Given the description of an element on the screen output the (x, y) to click on. 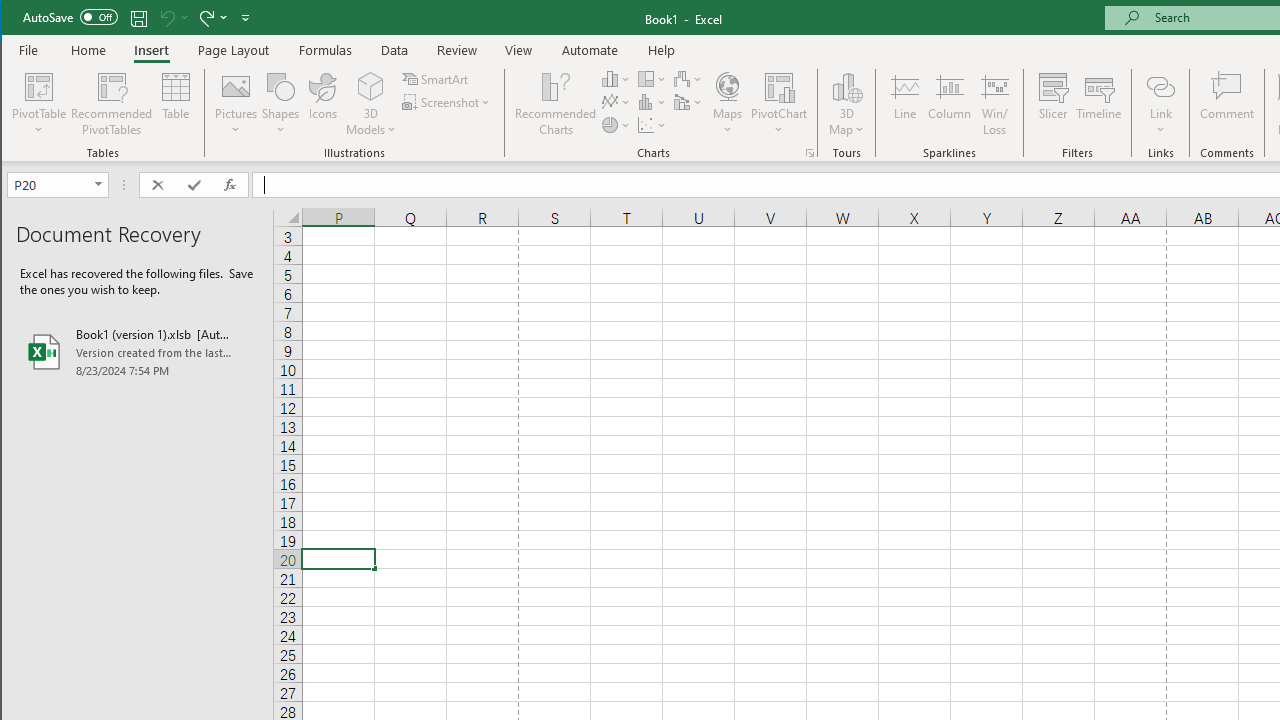
Formulas (326, 50)
Book1 (version 1).xlsb  [AutoRecovered] (137, 352)
Automate (589, 50)
Review (456, 50)
Insert Pie or Doughnut Chart (616, 124)
Insert Scatter (X, Y) or Bubble Chart (652, 124)
Help (661, 50)
Insert Hierarchy Chart (652, 78)
PivotTable (39, 86)
3D Models (371, 104)
Icons (323, 104)
Table (175, 104)
